Given the description of an element on the screen output the (x, y) to click on. 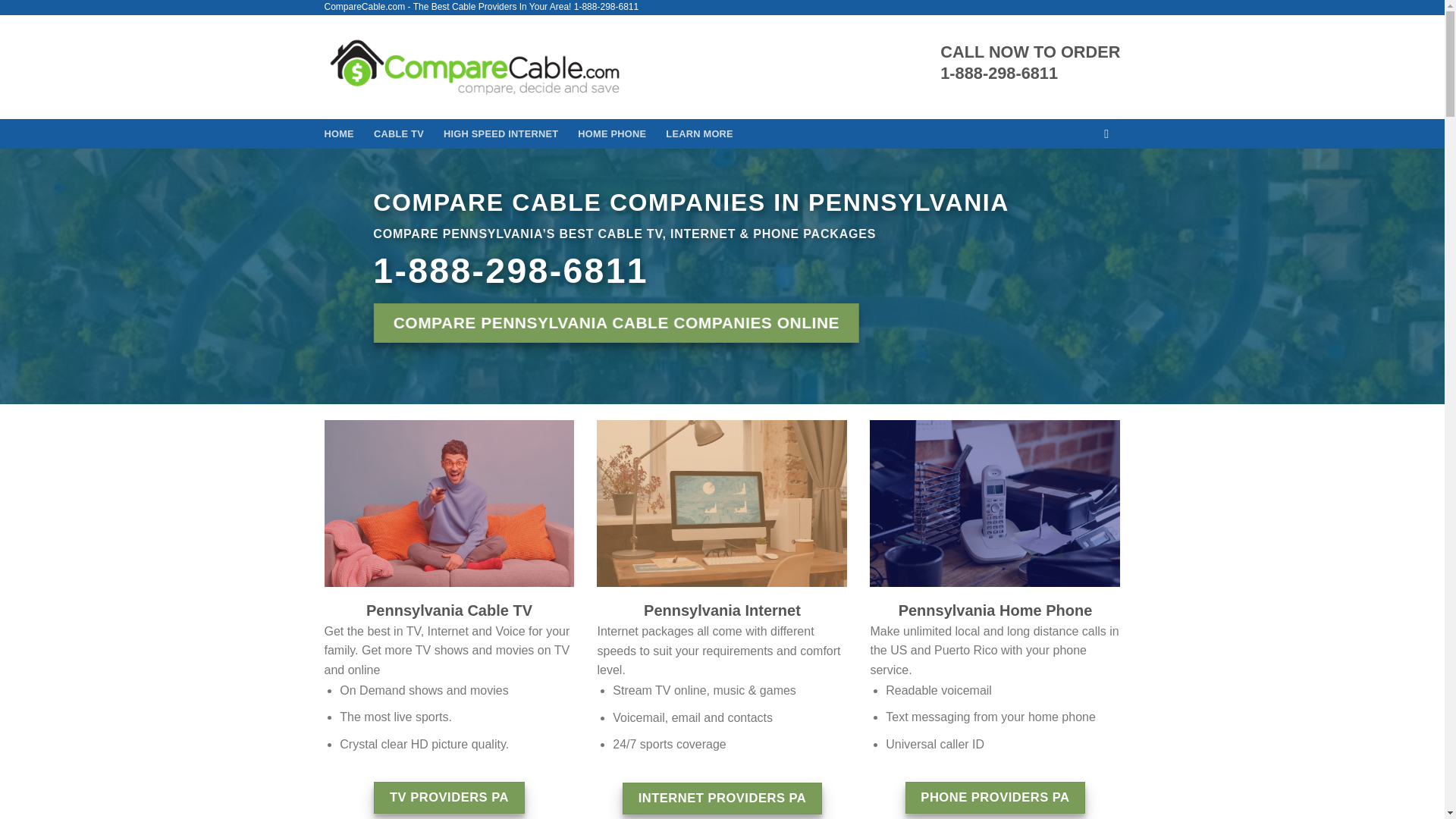
INTERNET PROVIDERS PA (722, 798)
COMPARE PENNSYLVANIA CABLE COMPANIES ONLINE (615, 323)
LEARN MORE (699, 133)
CABLE TV (398, 133)
Follow on Facebook (1109, 133)
CompareCable.com - Compare Cable TV Providers In My Area (475, 66)
HIGH SPEED INTERNET (500, 133)
PHONE PROVIDERS PA (995, 798)
HOME PHONE (612, 133)
HOME (338, 133)
TV PROVIDERS PA (449, 798)
